Given the description of an element on the screen output the (x, y) to click on. 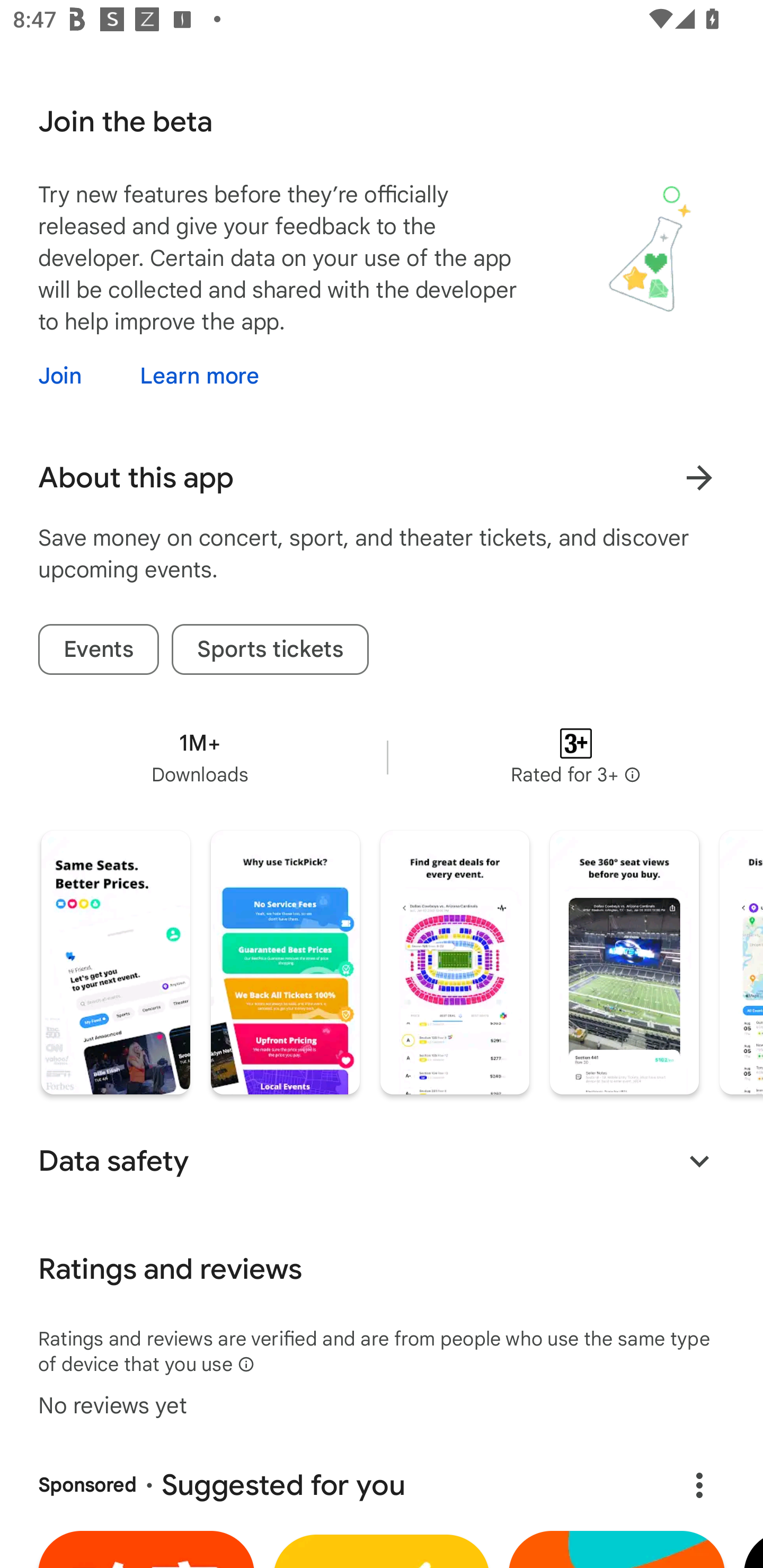
Join (76, 375)
Learn more (199, 375)
About this app Learn more About this app (381, 477)
Learn more About this app (699, 477)
Events tag (98, 649)
Sports tickets tag (269, 649)
Content rating Rated for 3+ (575, 758)
Screenshot "1" of "8" (115, 962)
Screenshot "2" of "8" (285, 962)
Screenshot "3" of "8" (454, 962)
Screenshot "4" of "8" (624, 962)
Data safety Expand (381, 1160)
Expand (699, 1160)
About this ad (699, 1485)
